Given the description of an element on the screen output the (x, y) to click on. 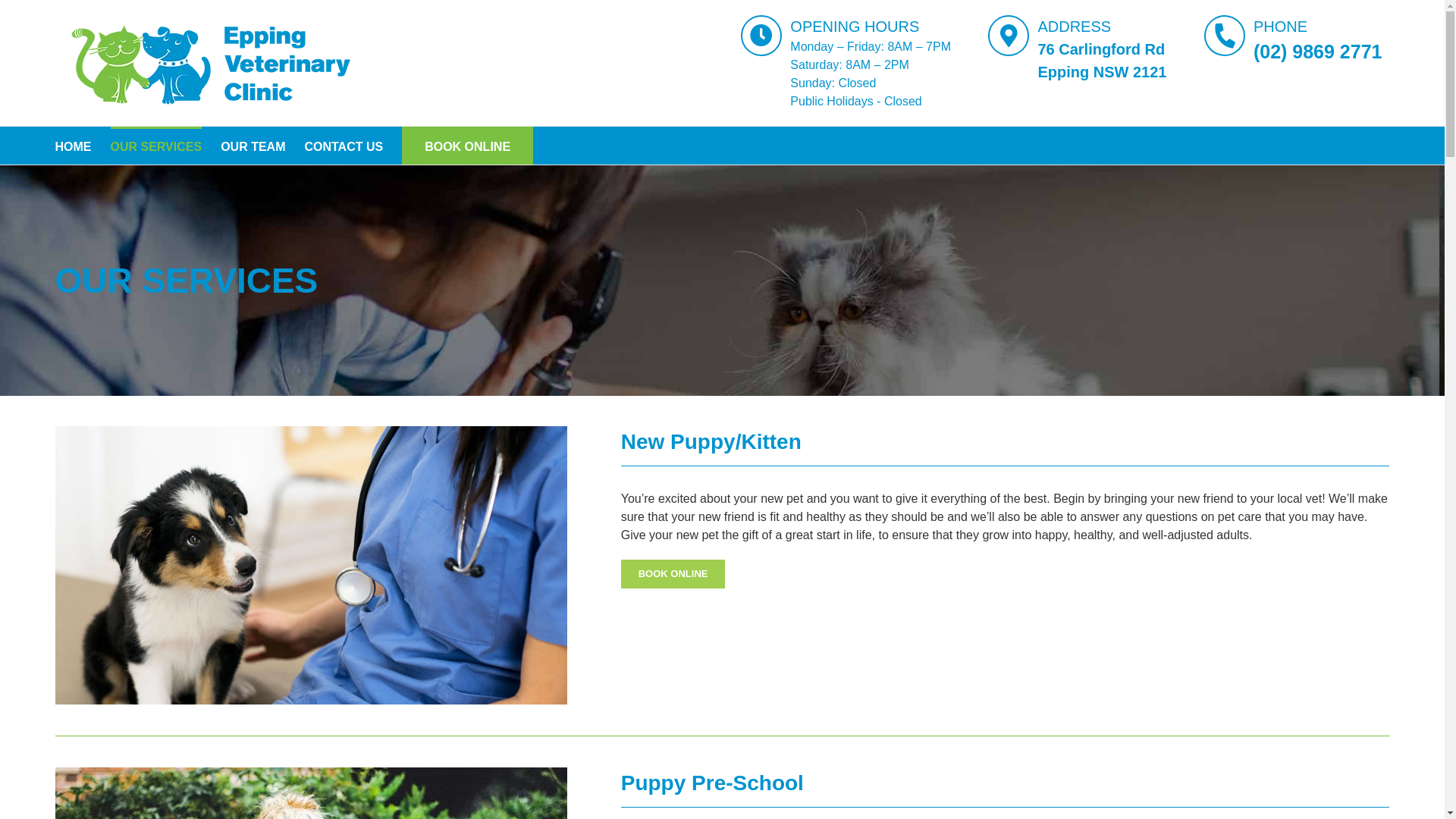
OUR SERVICES Element type: text (156, 145)
BOOK ONLINE Element type: text (673, 573)
OUR TEAM Element type: text (252, 145)
(02) 9869 2771 Element type: text (1317, 51)
home-banner Element type: hover (310, 431)
BOOK ONLINE Element type: text (467, 145)
CONTACT US Element type: text (343, 145)
76 Carlingford Rd
Epping NSW 2121 Element type: text (1101, 60)
HOME Element type: text (72, 145)
puppy-pre-school Element type: hover (310, 772)
